Given the description of an element on the screen output the (x, y) to click on. 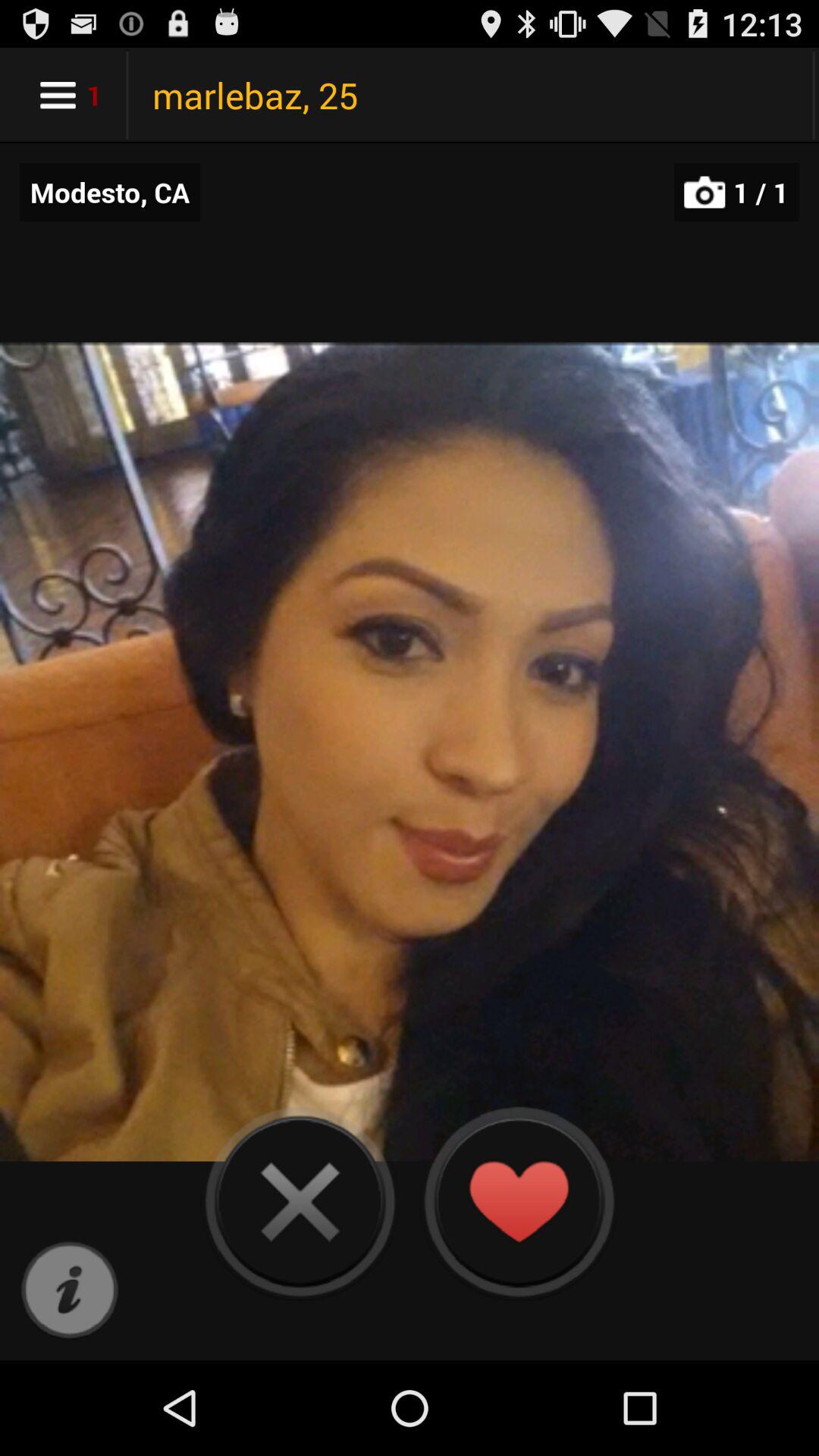
delete picture (299, 1200)
